Given the description of an element on the screen output the (x, y) to click on. 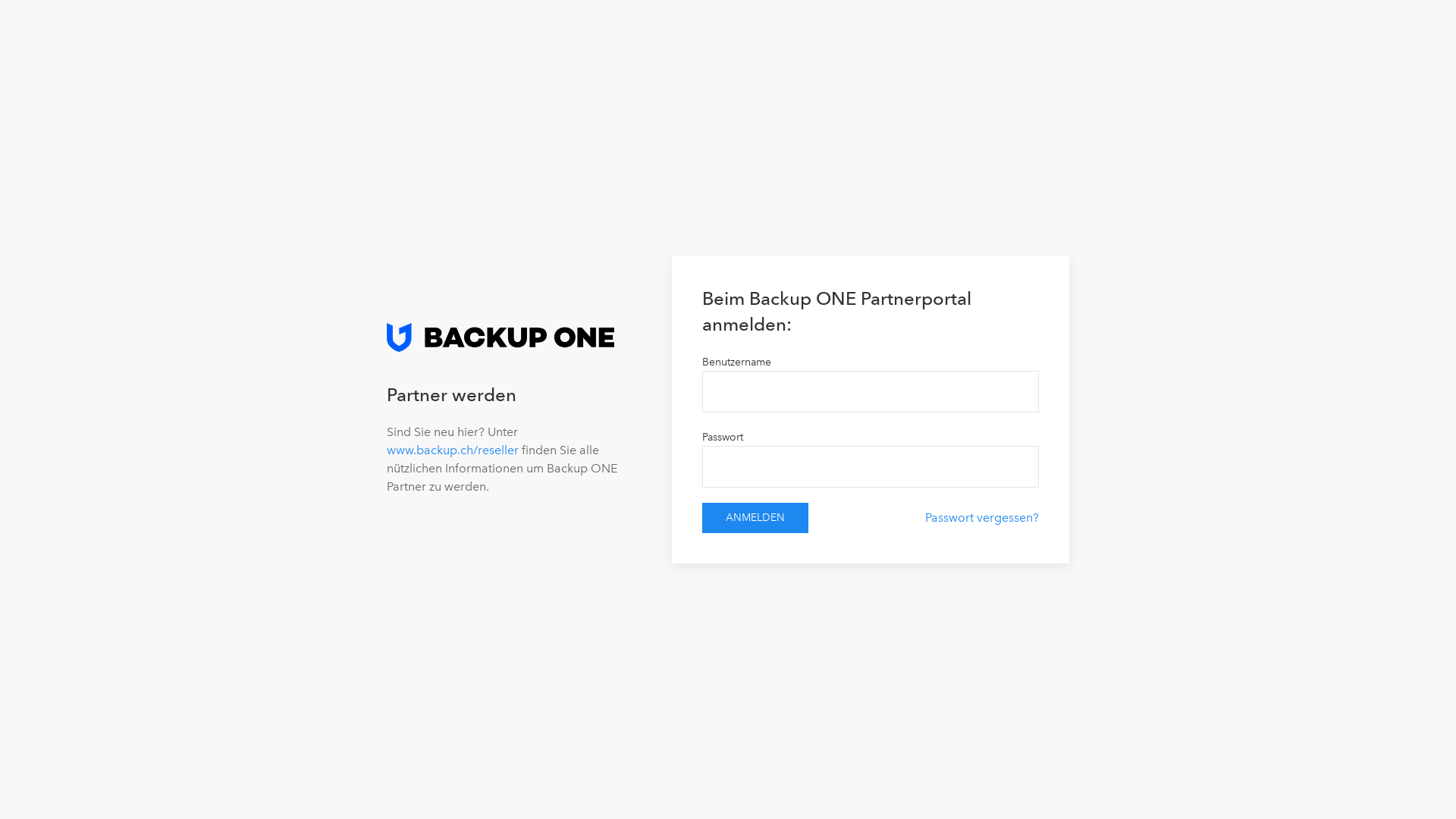
www.backup.ch/reseller Element type: text (452, 449)
ANMELDEN Element type: text (755, 517)
Passwort vergessen? Element type: text (981, 517)
